Given the description of an element on the screen output the (x, y) to click on. 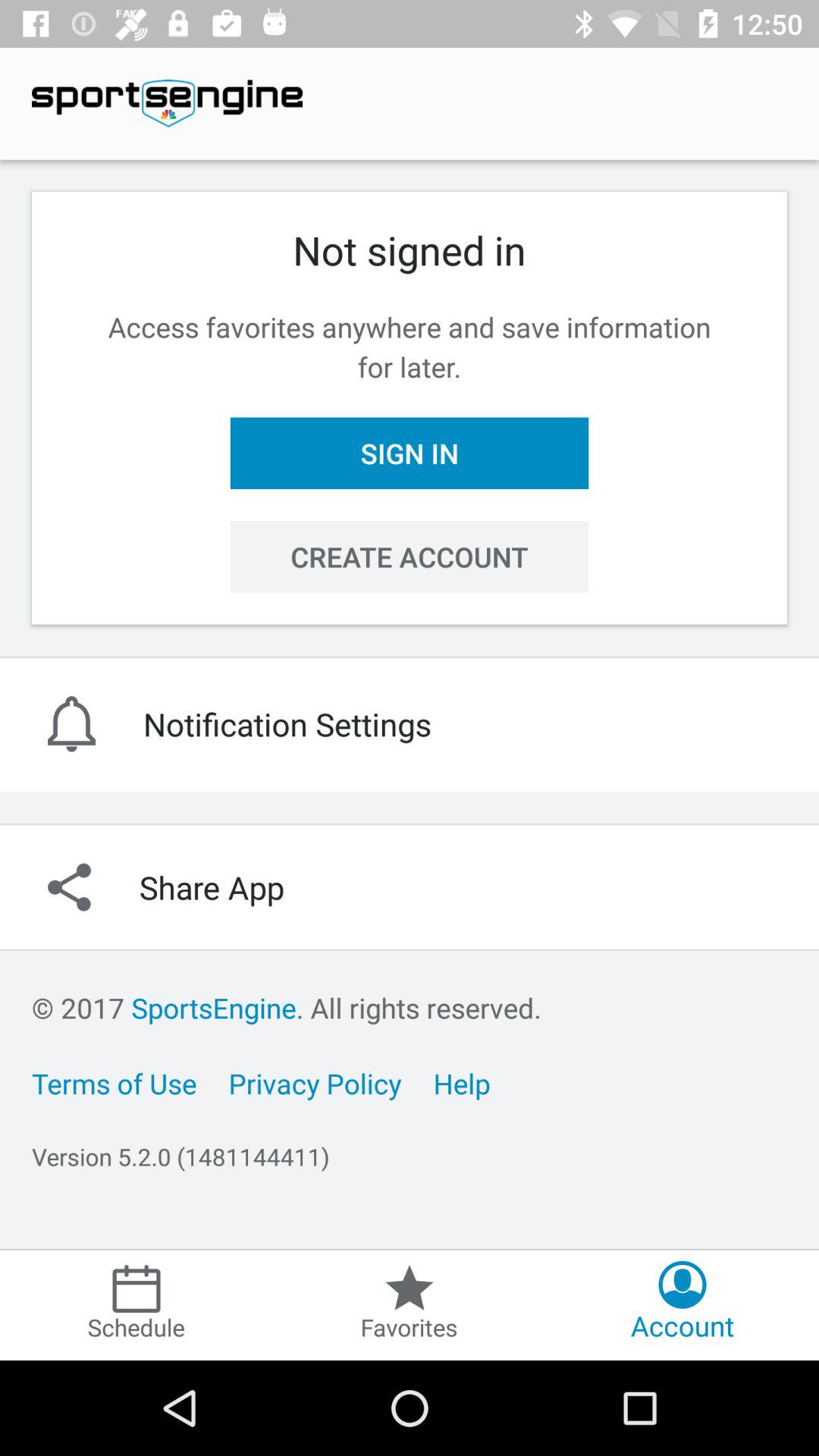
choose icon below the access favorites anywhere (409, 453)
